Given the description of an element on the screen output the (x, y) to click on. 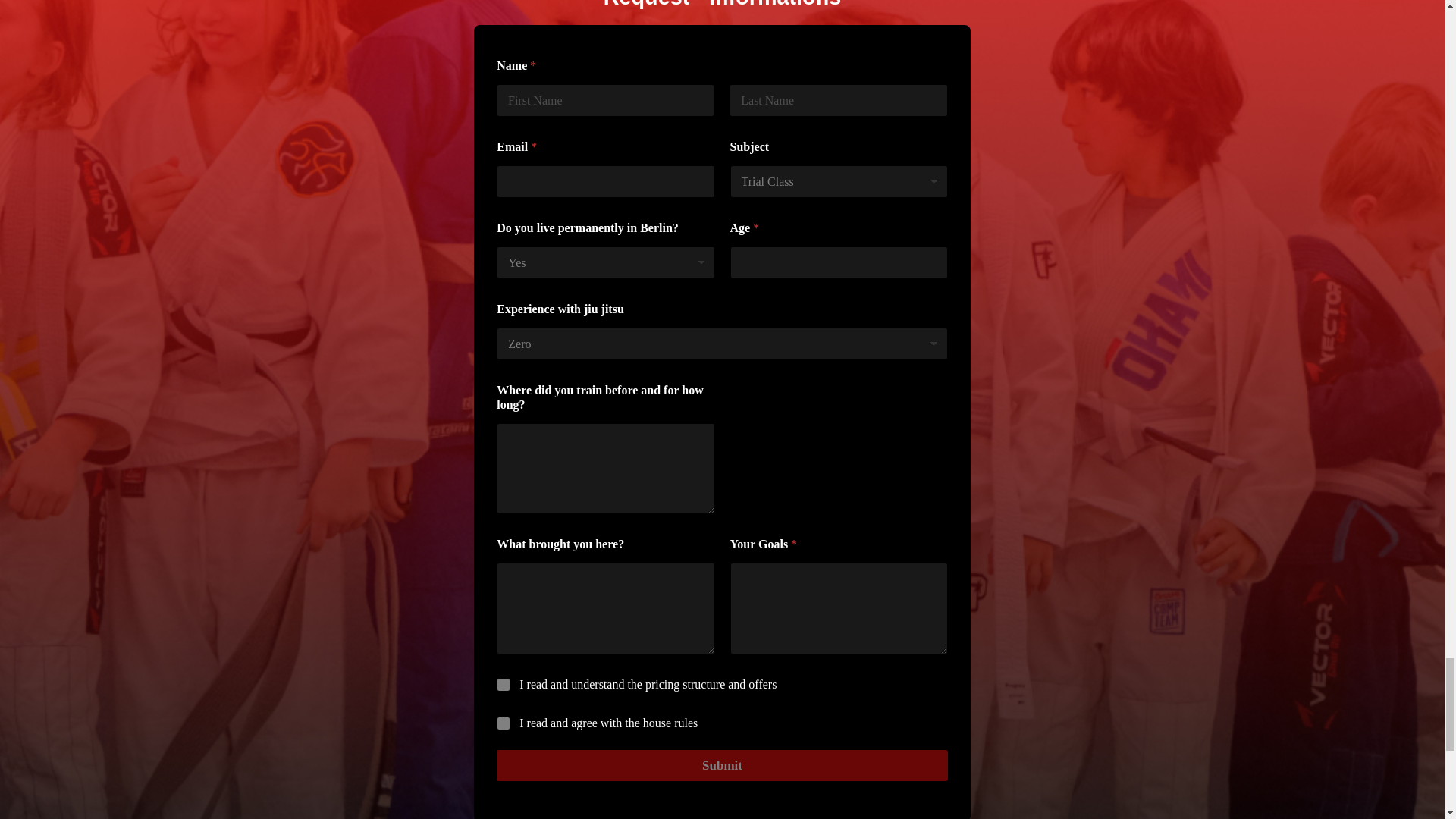
I read and understand the pricing structure and offers (504, 685)
Submit (721, 765)
I read and agree with the house rules (504, 724)
